Given the description of an element on the screen output the (x, y) to click on. 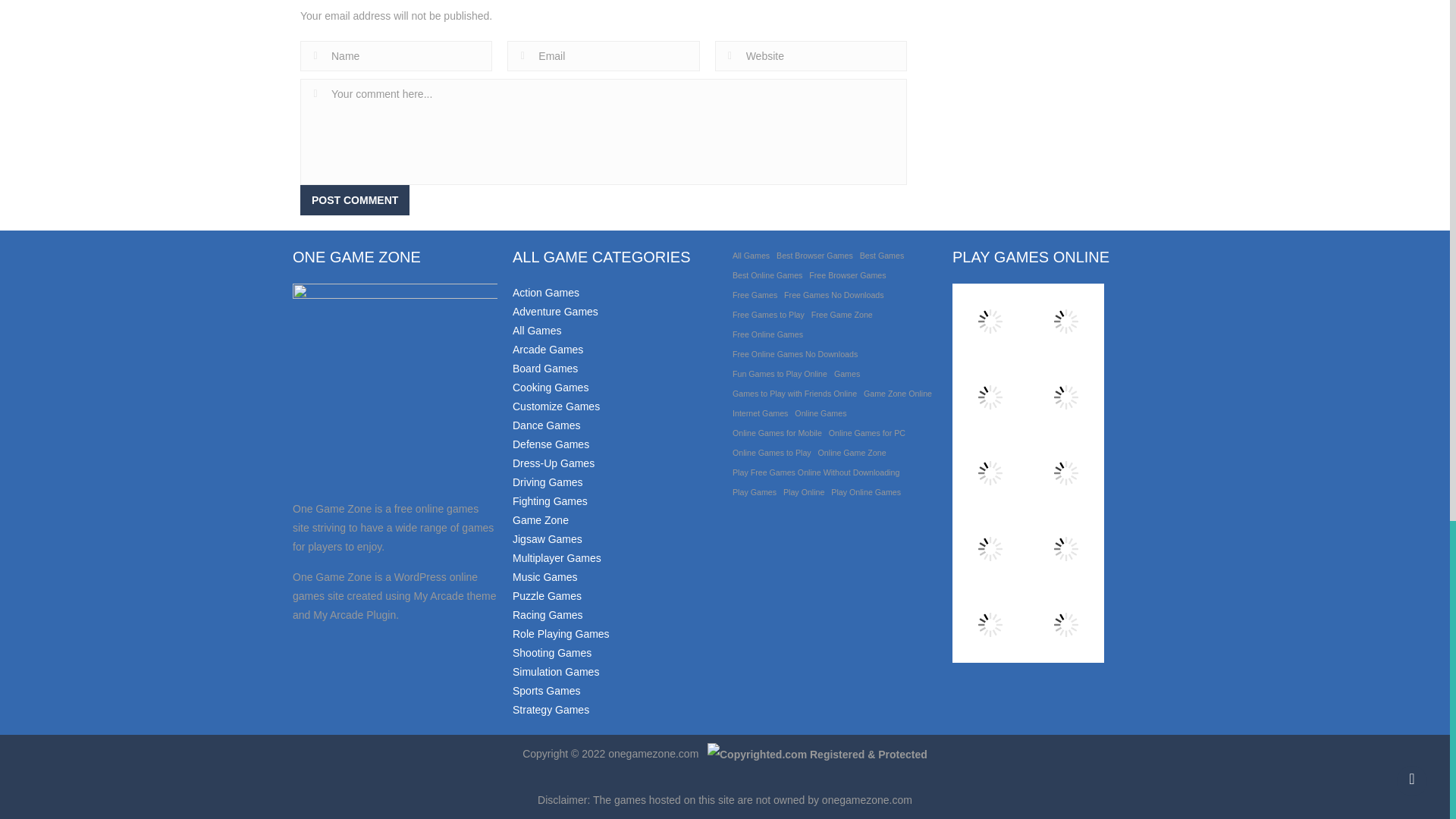
Post Comment (354, 200)
